Given the description of an element on the screen output the (x, y) to click on. 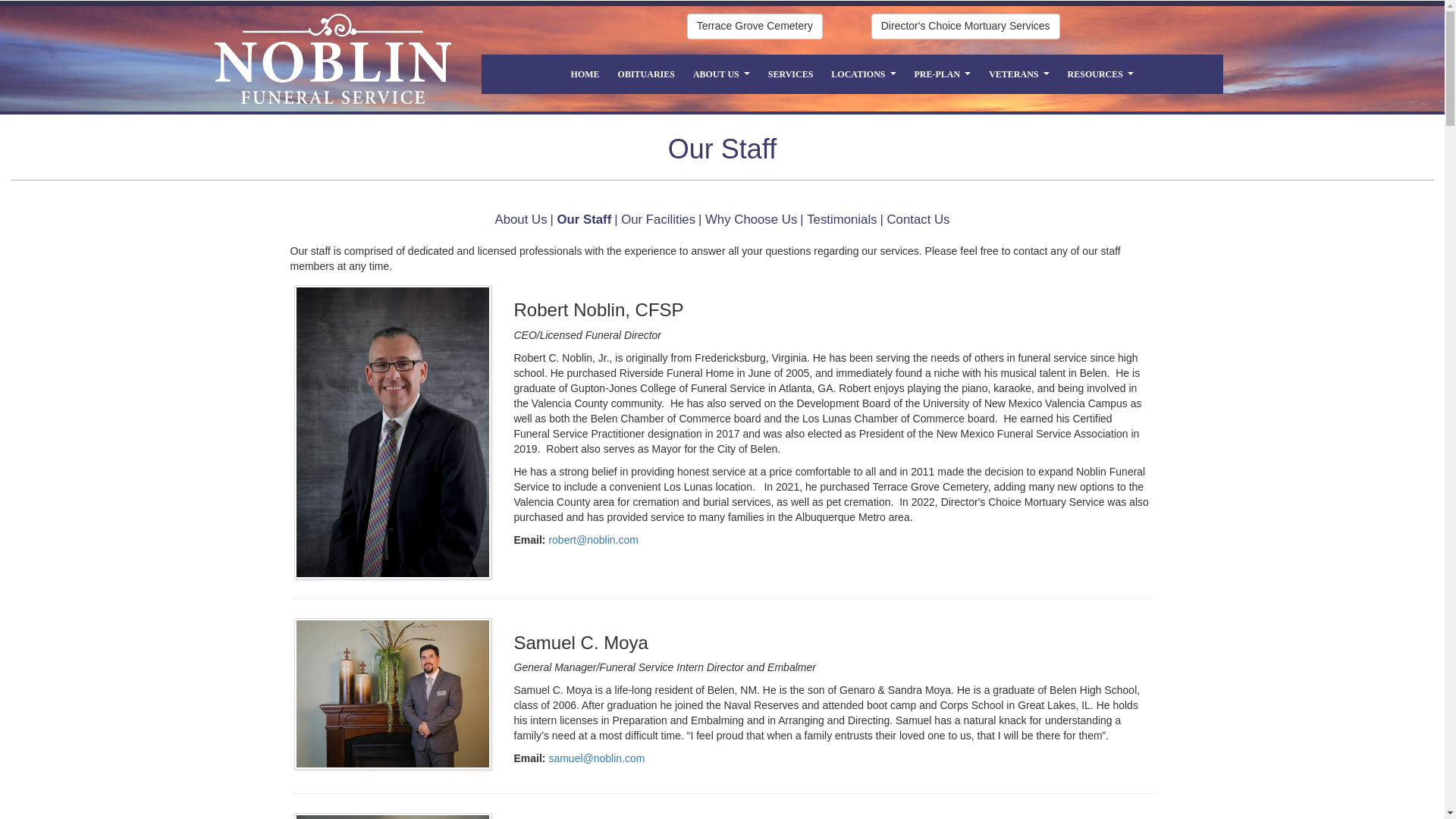
Terrace Grove Cemetery (754, 26)
Our Facilities (658, 219)
RESOURCES... (1100, 74)
OBITUARIES (646, 74)
Director's Choice Mortuary Services (964, 25)
About Us (521, 219)
Our Staff (583, 219)
LOCATIONS... (863, 74)
Terrace Grove Cemetery (754, 25)
Director's Choice Mortuary Services (964, 26)
VETERANS... (1018, 74)
ABOUT US... (721, 74)
PRE-PLAN... (942, 74)
SERVICES (790, 74)
Why Choose Us (750, 219)
